Given the description of an element on the screen output the (x, y) to click on. 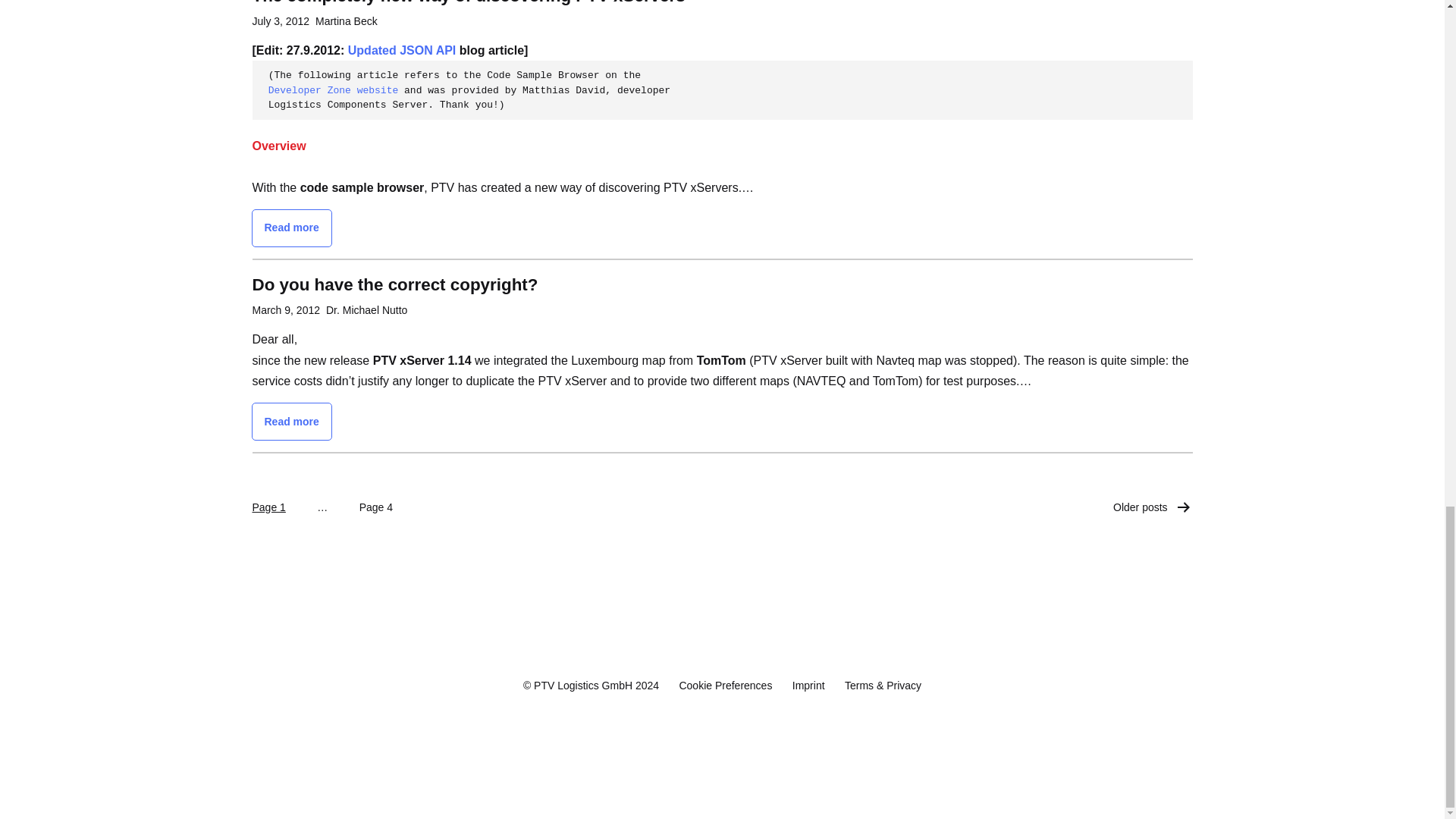
Updated JSON API (399, 50)
Updated JSON API (399, 50)
The completely new way of discovering PTV xServers (467, 3)
Developer Zone website (332, 90)
